Given the description of an element on the screen output the (x, y) to click on. 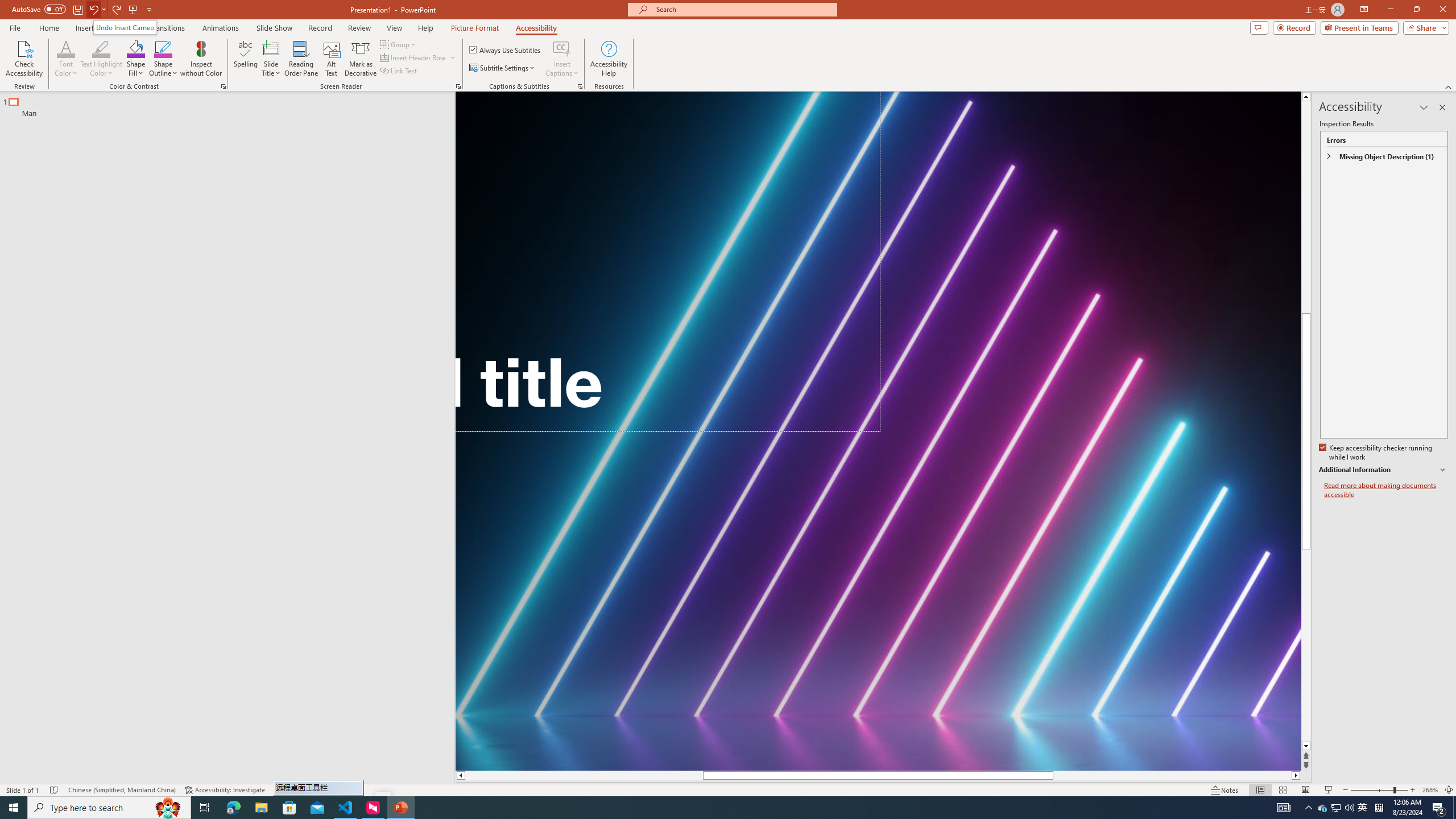
Accessibility Help (608, 58)
Captions & Subtitles (580, 85)
Slide Title (271, 58)
Always Use Subtitles (505, 49)
